Given the description of an element on the screen output the (x, y) to click on. 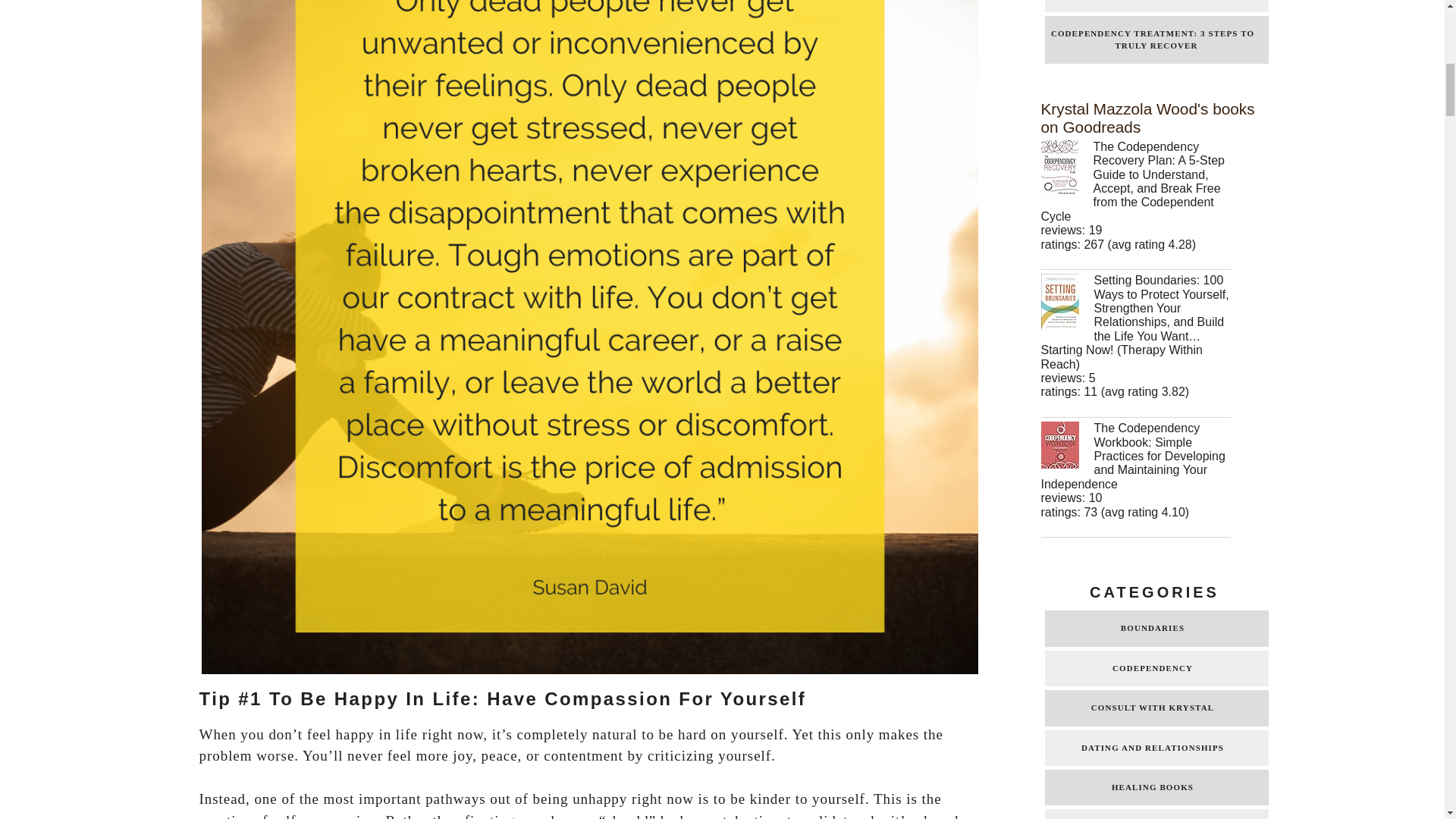
self-compassion (324, 816)
